Given the description of an element on the screen output the (x, y) to click on. 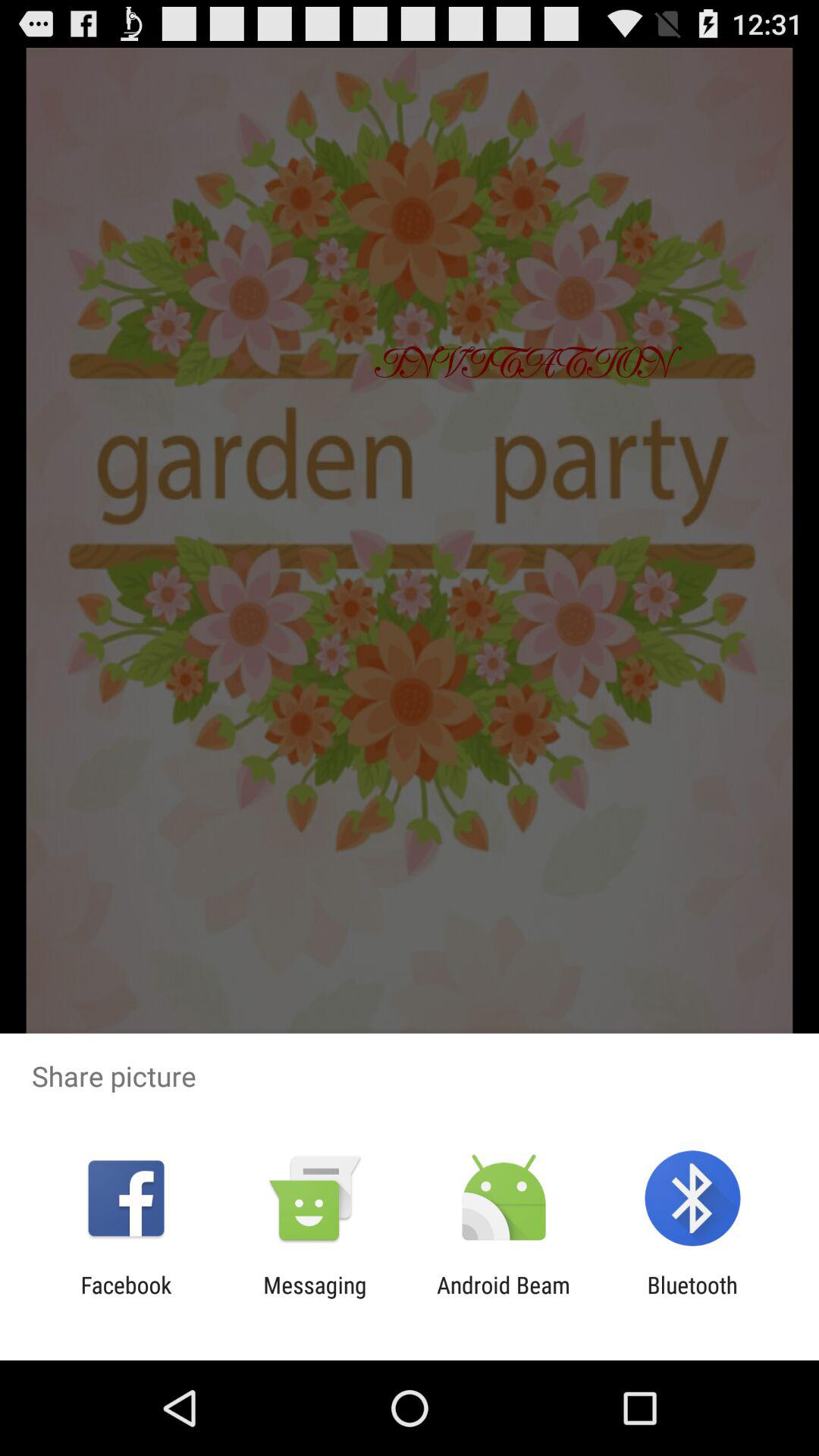
turn off the item next to facebook item (314, 1298)
